Given the description of an element on the screen output the (x, y) to click on. 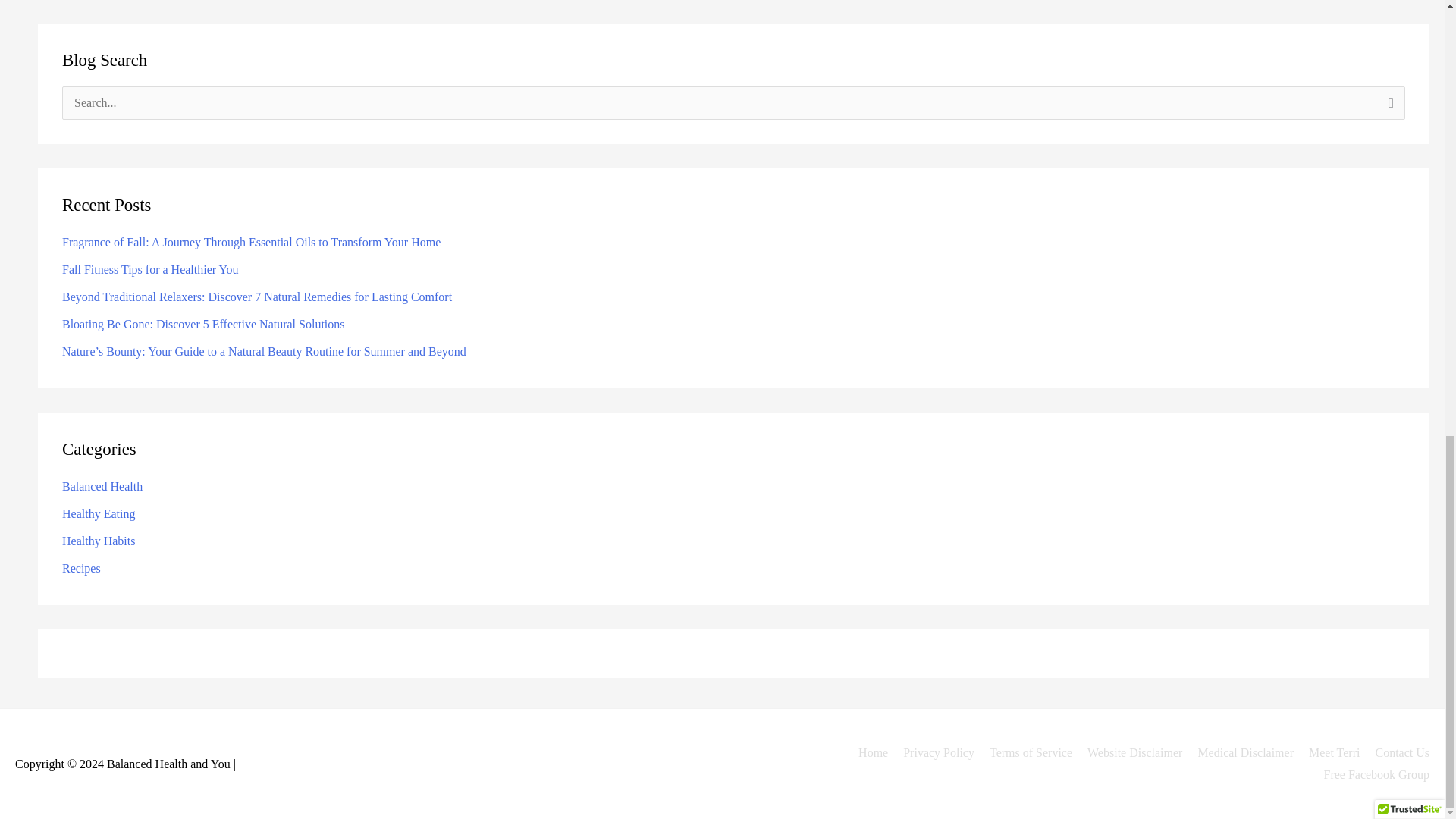
Healthy Habits (98, 540)
Balanced Health (102, 486)
Search (1388, 107)
Home (866, 752)
Recipes (81, 567)
Terms of Service (1023, 752)
Fall Fitness Tips for a Healthier You (150, 269)
Search (1388, 107)
Bloating Be Gone: Discover 5 Effective Natural Solutions (203, 323)
Medical Disclaimer (1239, 752)
Search (1388, 107)
Contact Us (1395, 752)
Privacy Policy (932, 752)
